Given the description of an element on the screen output the (x, y) to click on. 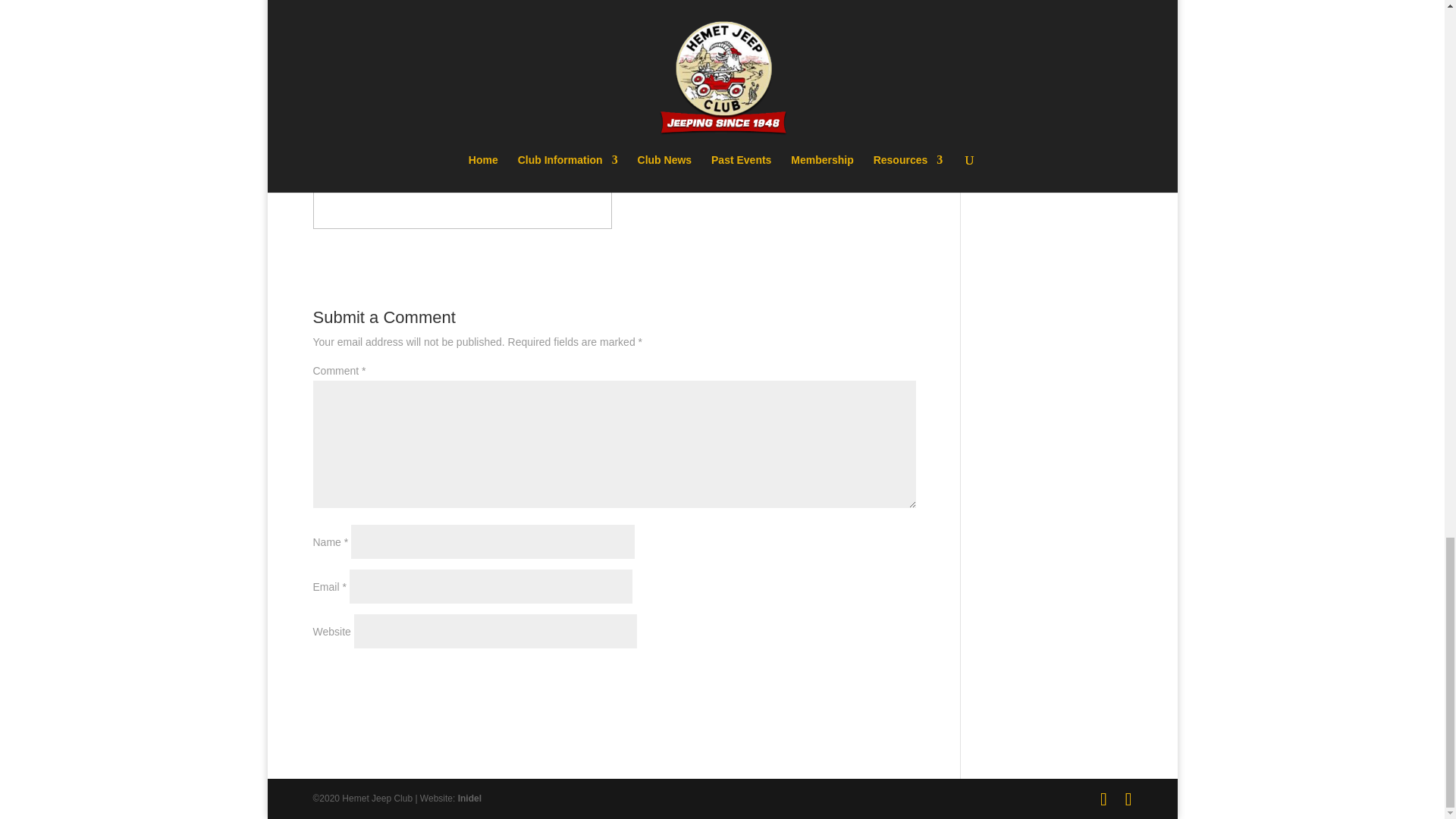
Inidel (469, 798)
